Given the description of an element on the screen output the (x, y) to click on. 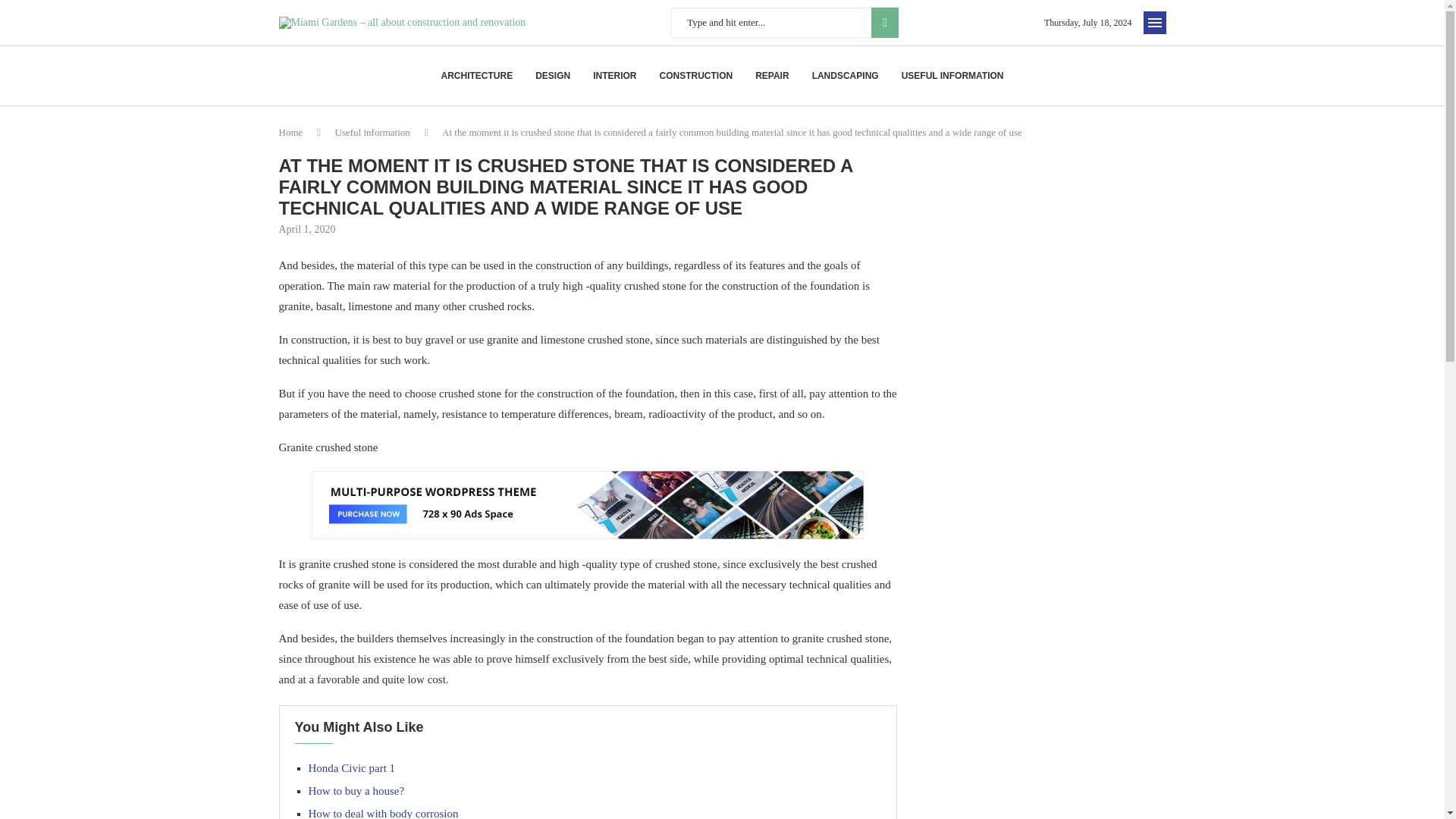
ARCHITECTURE (476, 75)
Useful information (372, 132)
USEFUL INFORMATION (952, 75)
Honda Civic part 1 (350, 767)
DESIGN (552, 75)
SEARCH (884, 22)
INTERIOR (614, 75)
REPAIR (772, 75)
Home (290, 132)
CONSTRUCTION (696, 75)
LANDSCAPING (845, 75)
